Given the description of an element on the screen output the (x, y) to click on. 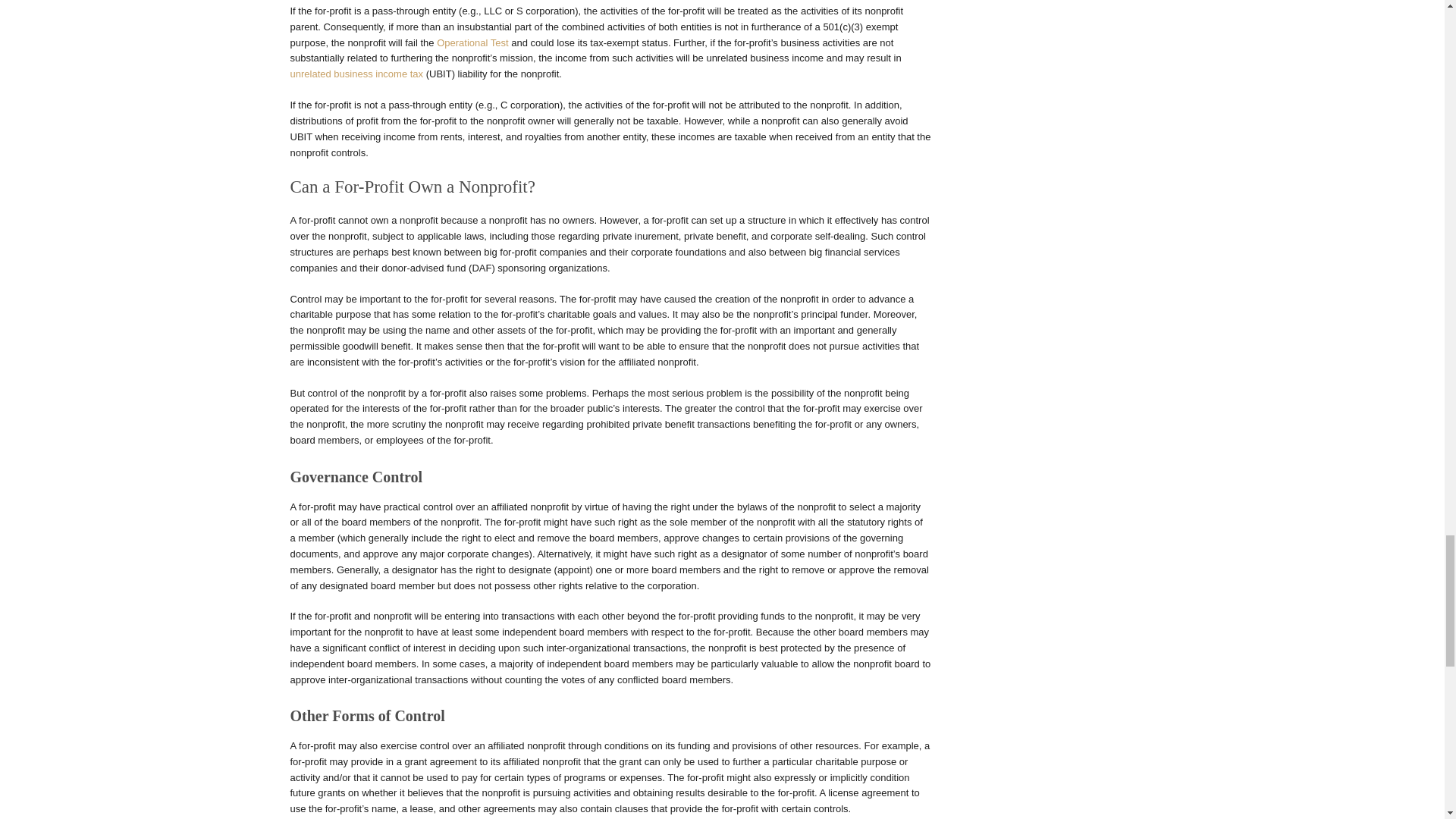
unrelated business income tax (356, 73)
Operational Test (472, 42)
